Given the description of an element on the screen output the (x, y) to click on. 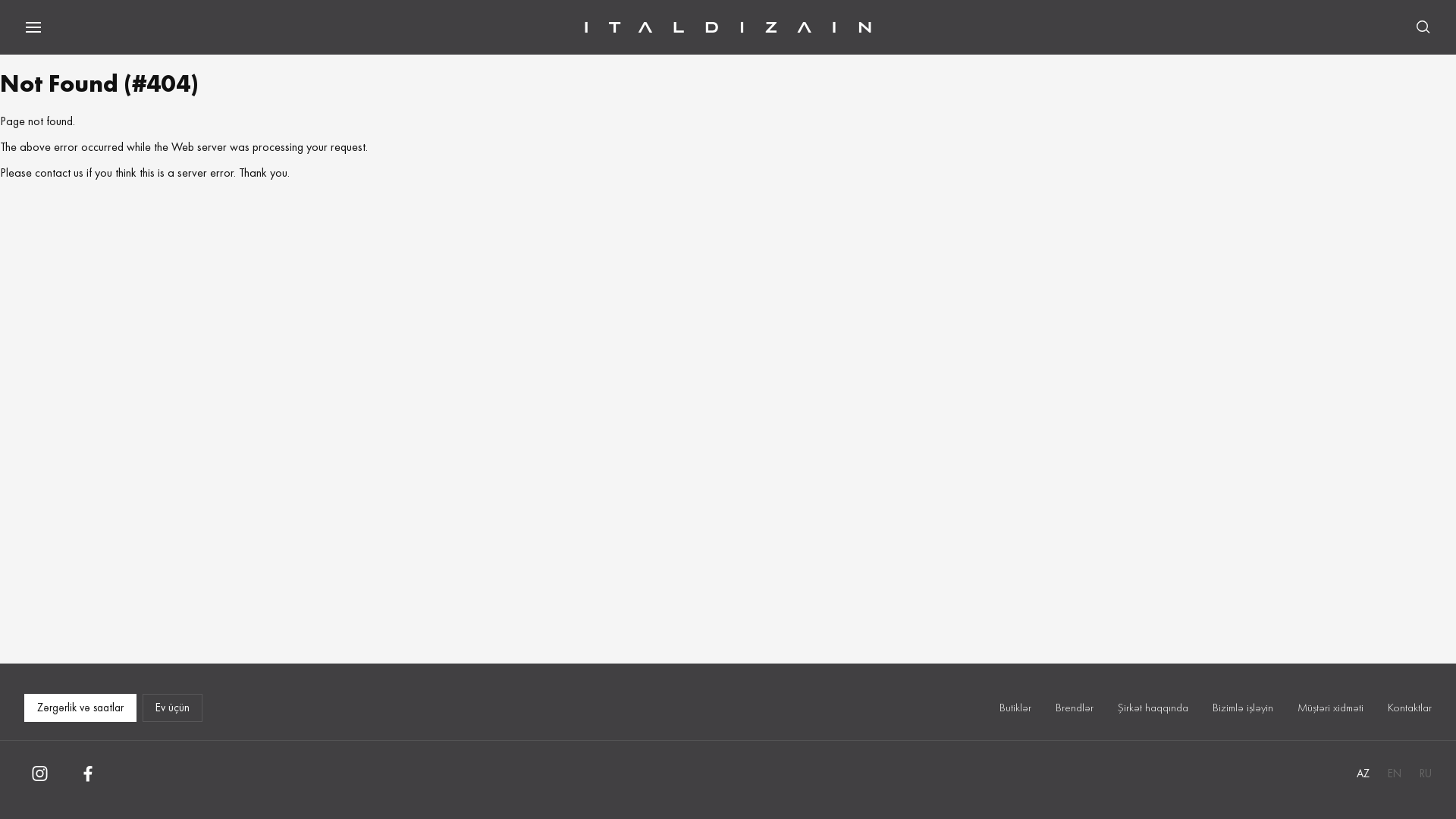
EN Element type: text (1394, 773)
Kontaktlar Element type: text (1409, 707)
AZ Element type: text (1362, 773)
RU Element type: text (1425, 773)
